Given the description of an element on the screen output the (x, y) to click on. 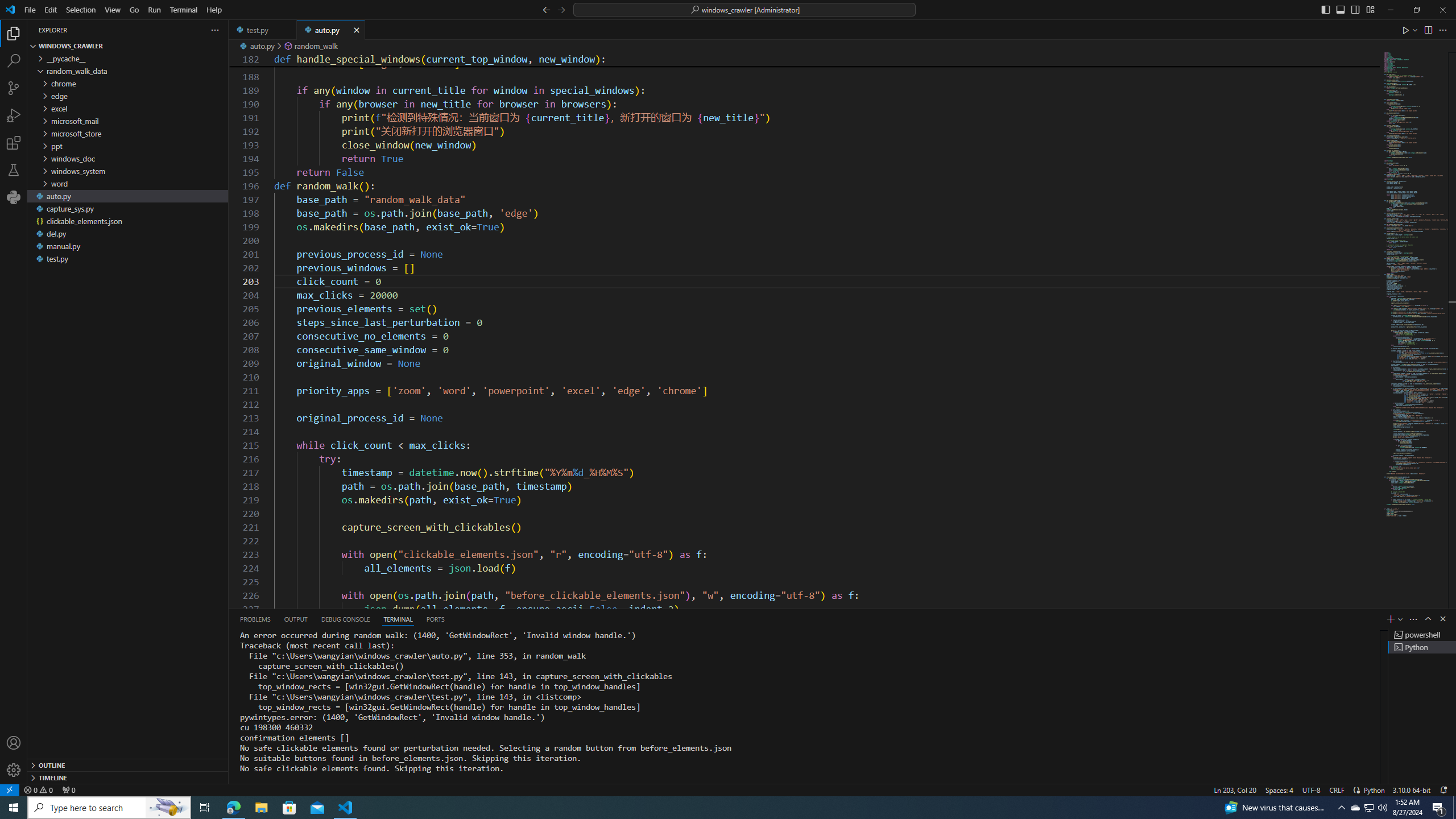
Extensions (Ctrl+Shift+X) (13, 142)
Manage (13, 769)
Manage (13, 755)
No Ports Forwarded (68, 789)
Go (134, 9)
Terminal (Ctrl+`) (398, 618)
Timeline Section (127, 777)
Python (1373, 789)
Run Python File (1405, 29)
Go Forward (Alt+RightArrow) (560, 9)
Maximize Panel Size (1428, 618)
